Given the description of an element on the screen output the (x, y) to click on. 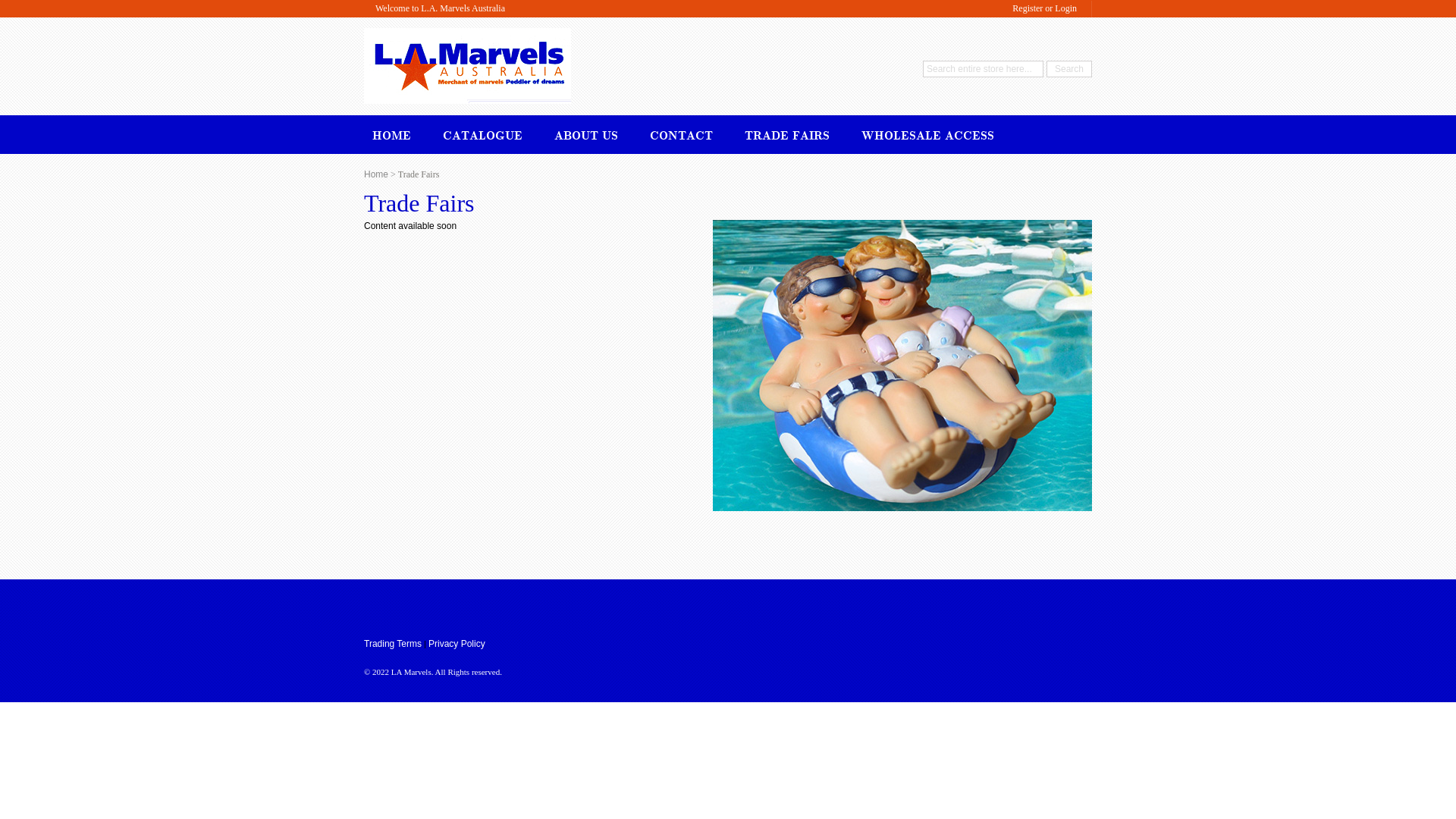
CATALOGUE Element type: text (482, 133)
Welcome to L.A. Marvels Australia Element type: text (440, 8)
WHOLESALE ACCESS Element type: text (927, 133)
CONTACT Element type: text (681, 133)
Trading Terms Element type: text (392, 643)
Privacy Policy Element type: text (456, 643)
HOME Element type: text (391, 133)
Register or Login Element type: text (1044, 8)
ABOUT US Element type: text (586, 133)
TRADE FAIRS Element type: text (786, 133)
Home Element type: text (376, 174)
Magento Commerce Element type: hover (467, 42)
Search Element type: text (1069, 68)
